Given the description of an element on the screen output the (x, y) to click on. 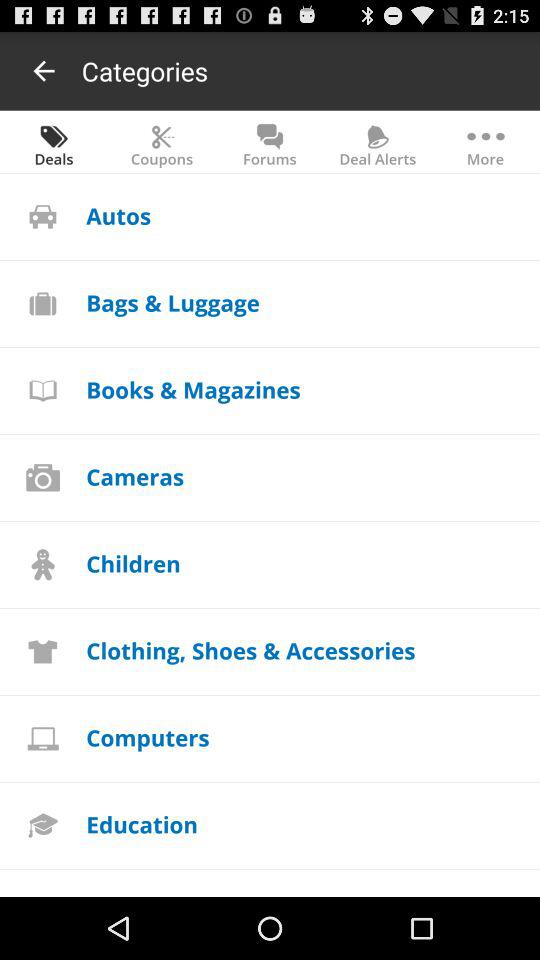
open app next to the categories (44, 70)
